Given the description of an element on the screen output the (x, y) to click on. 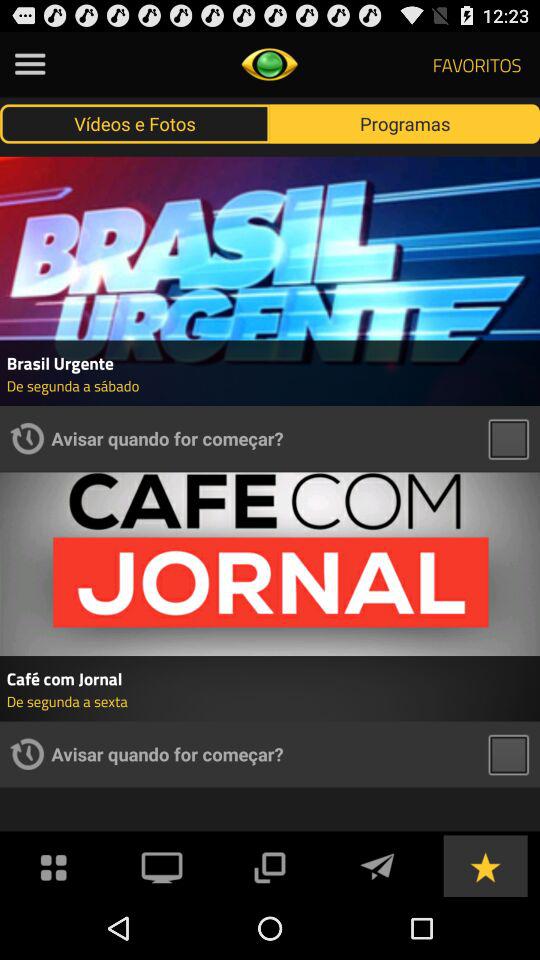
selection square (508, 437)
